Given the description of an element on the screen output the (x, y) to click on. 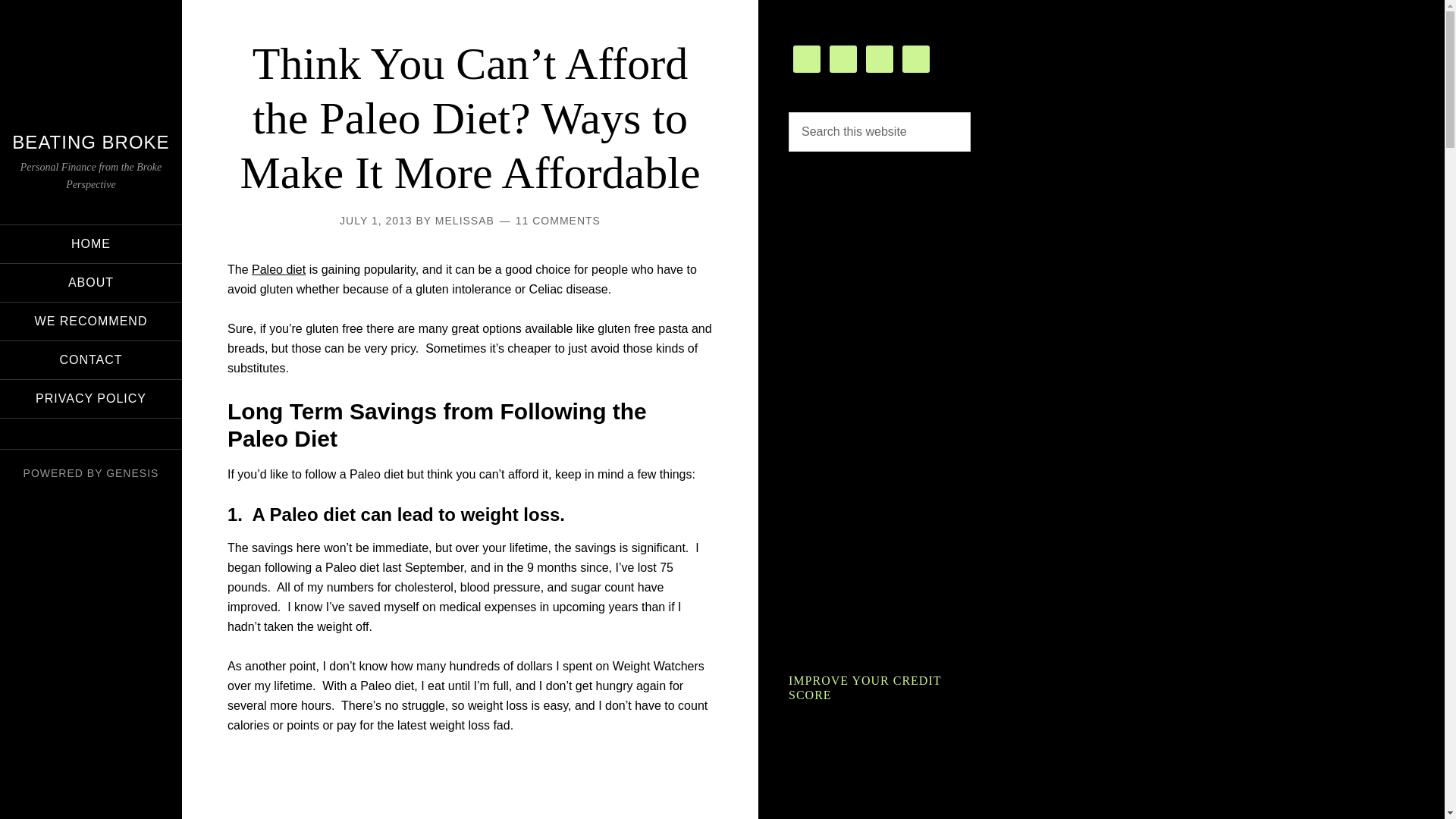
HOME (91, 243)
CONTACT (91, 360)
WE RECOMMEND (91, 320)
Paleo diet (278, 269)
GENESIS (132, 472)
ABOUT (91, 282)
11 COMMENTS (557, 220)
BEATING BROKE (89, 141)
PRIVACY POLICY (91, 397)
